Given the description of an element on the screen output the (x, y) to click on. 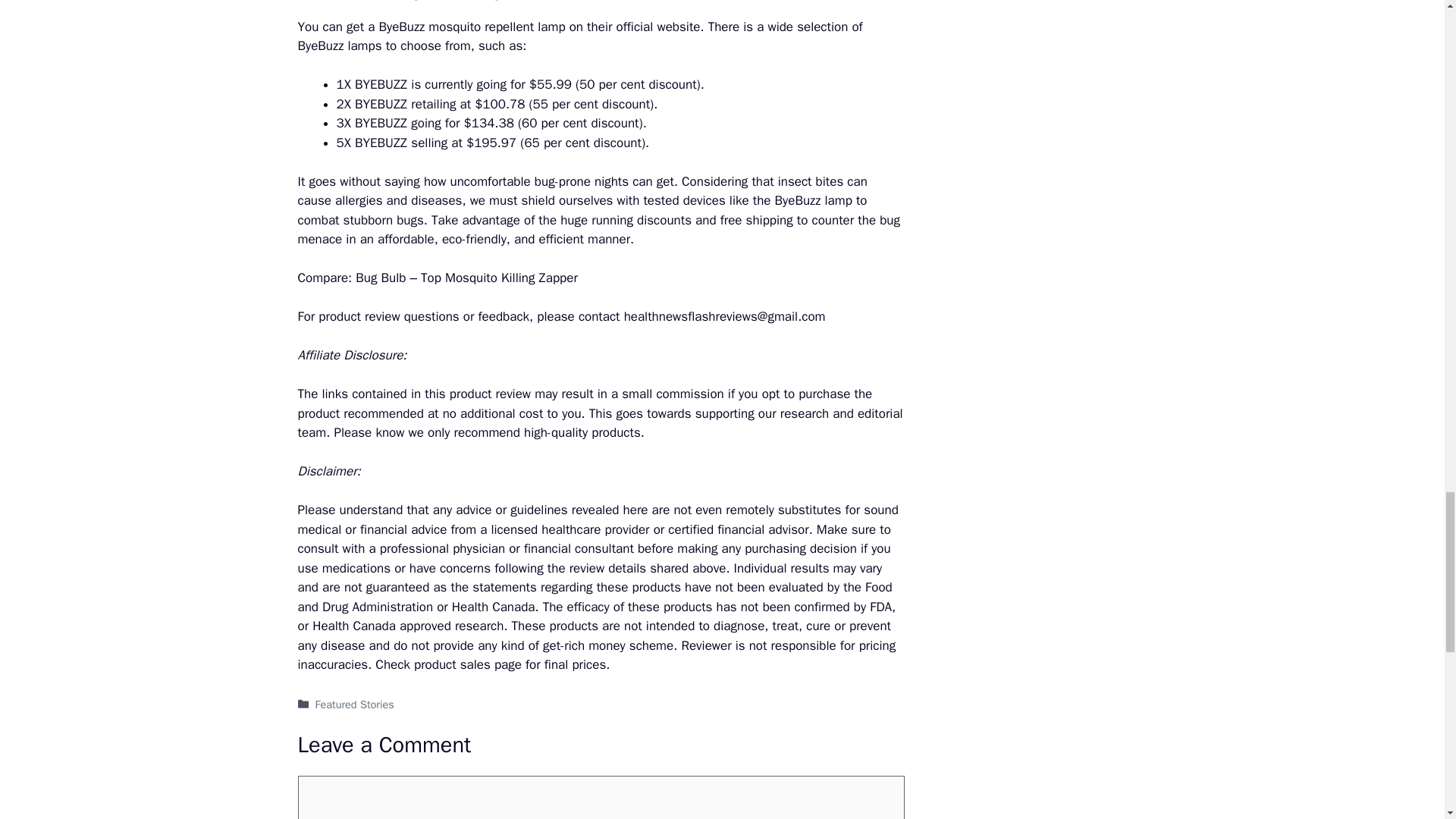
Featured Stories (354, 704)
